Given the description of an element on the screen output the (x, y) to click on. 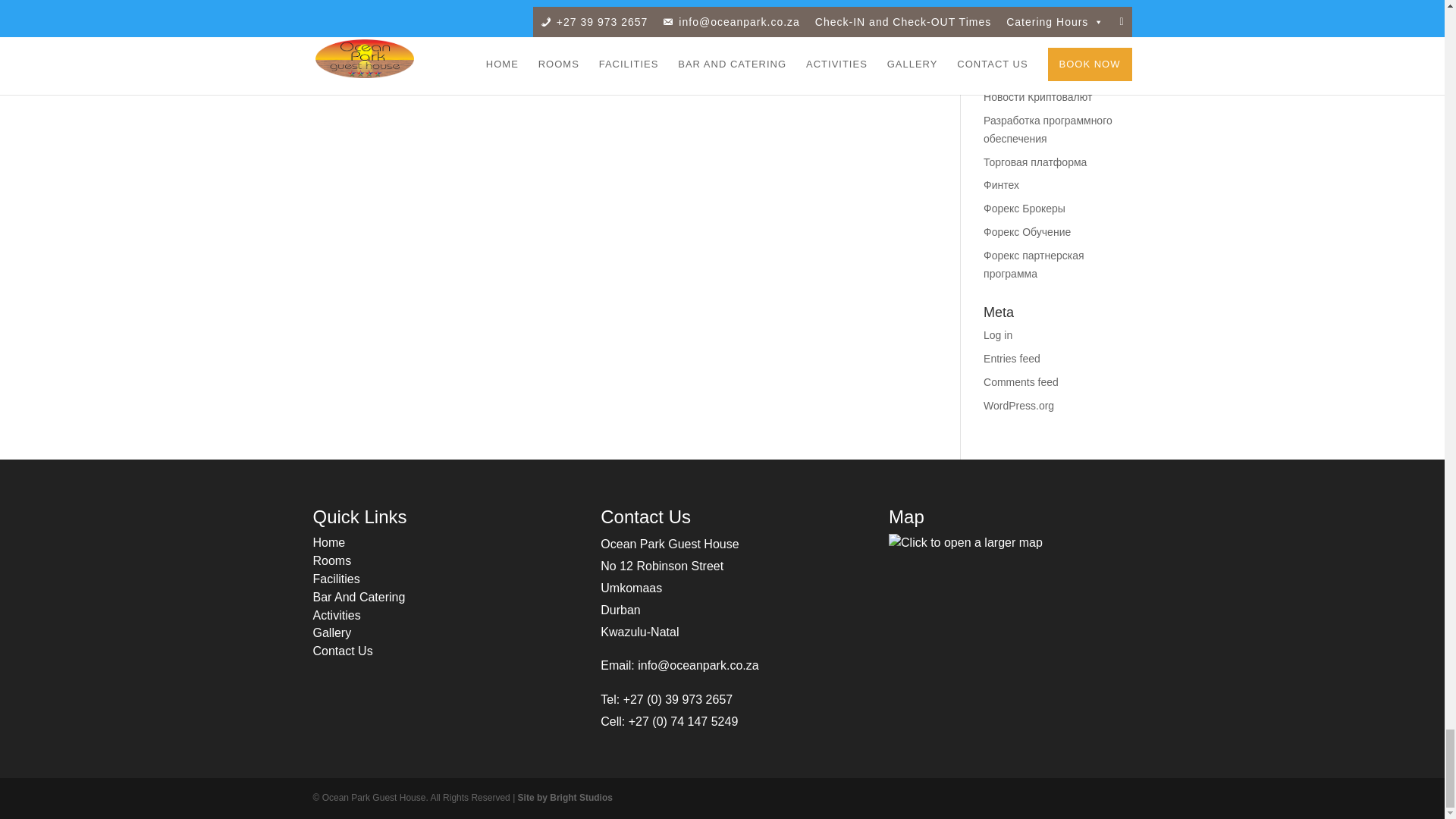
Click to open a larger map (965, 542)
